Given the description of an element on the screen output the (x, y) to click on. 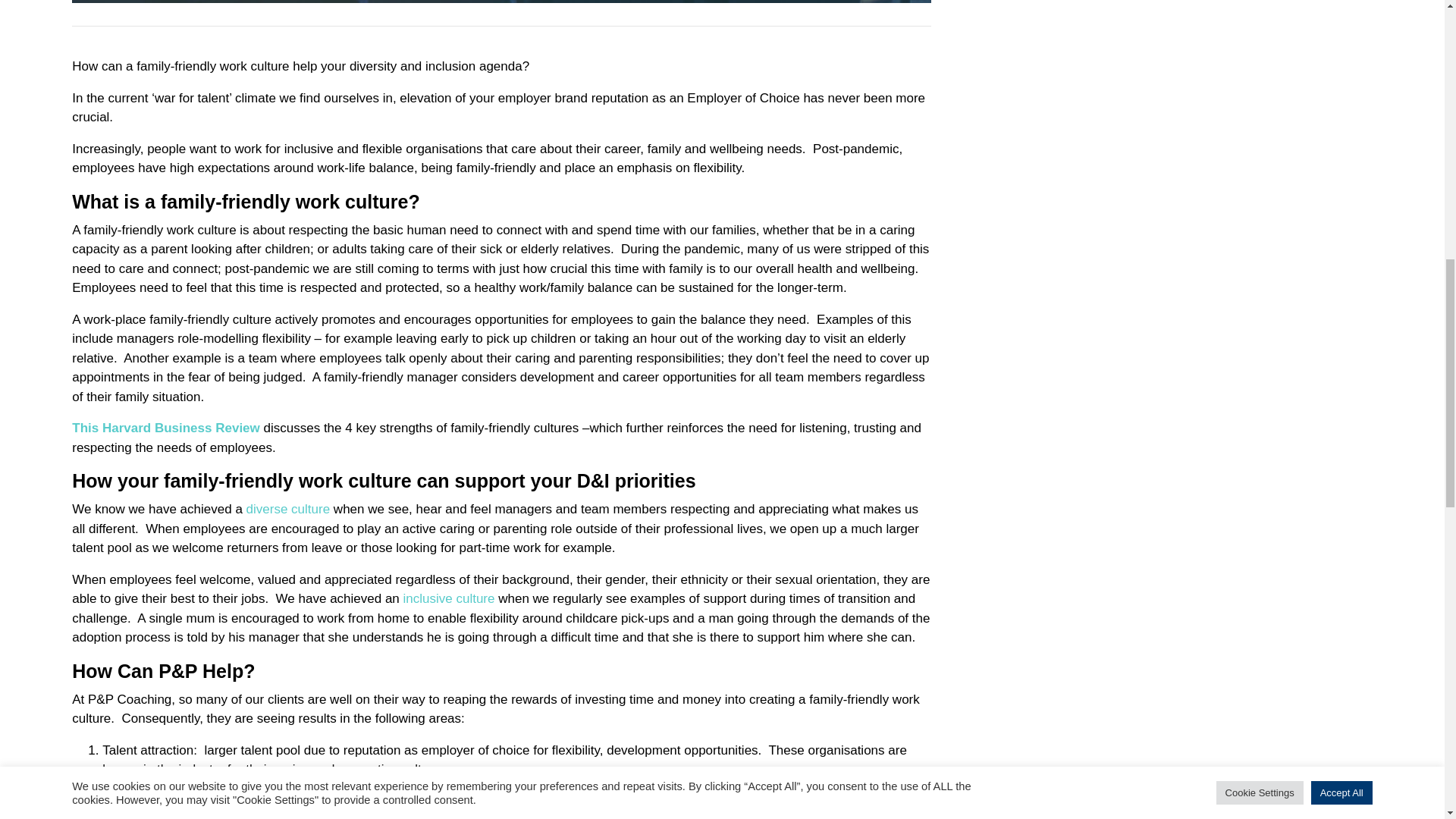
diverse culture (288, 509)
This Harvard Business Review (165, 427)
inclusive culture (449, 598)
